Given the description of an element on the screen output the (x, y) to click on. 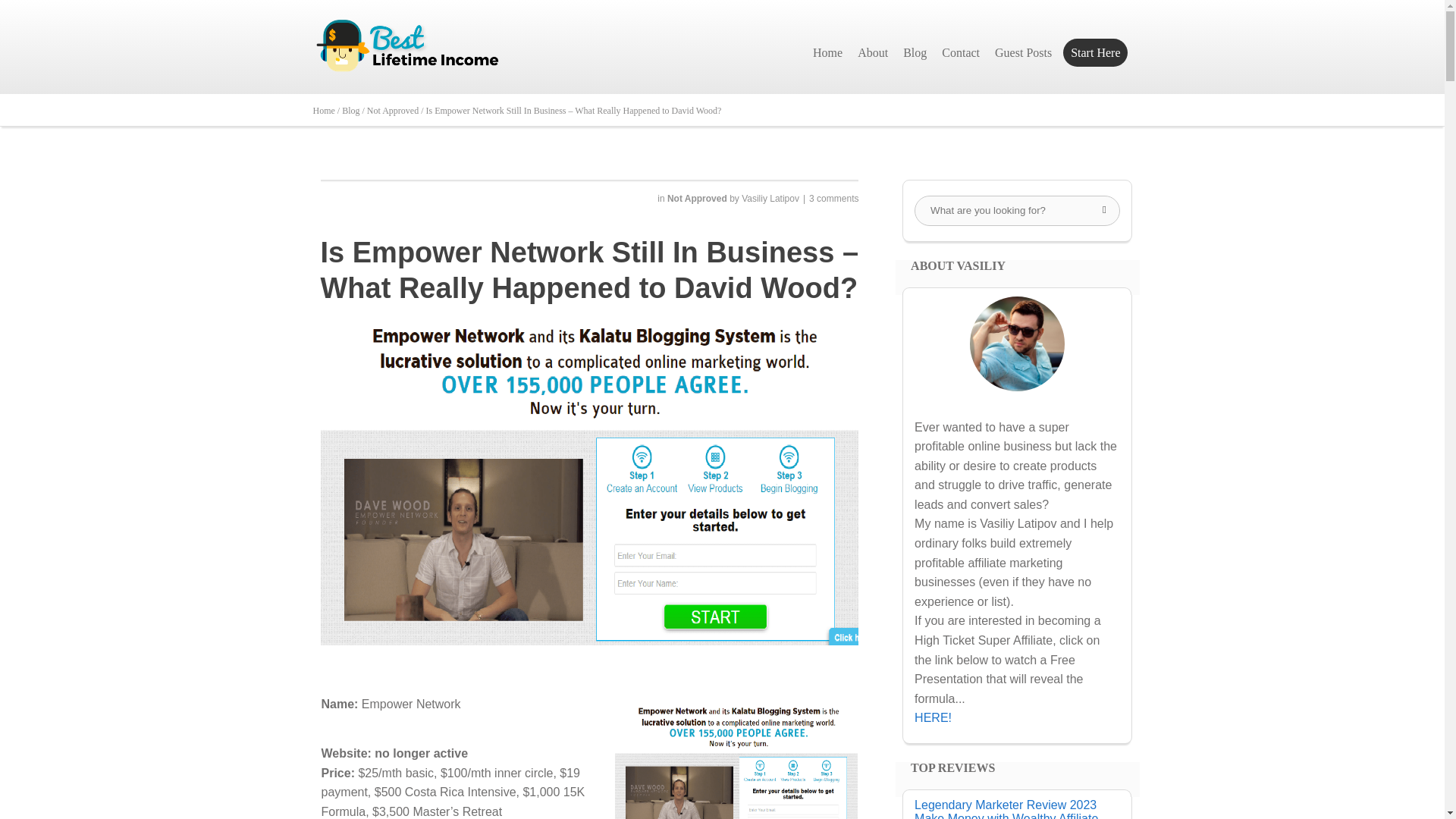
Guest Posts (1023, 51)
Vasiliy Latipov (770, 197)
3 comments (834, 197)
Home (827, 51)
Contact (960, 51)
Not Approved (697, 197)
About (872, 51)
Blog (914, 51)
Start Here (1094, 51)
